Given the description of an element on the screen output the (x, y) to click on. 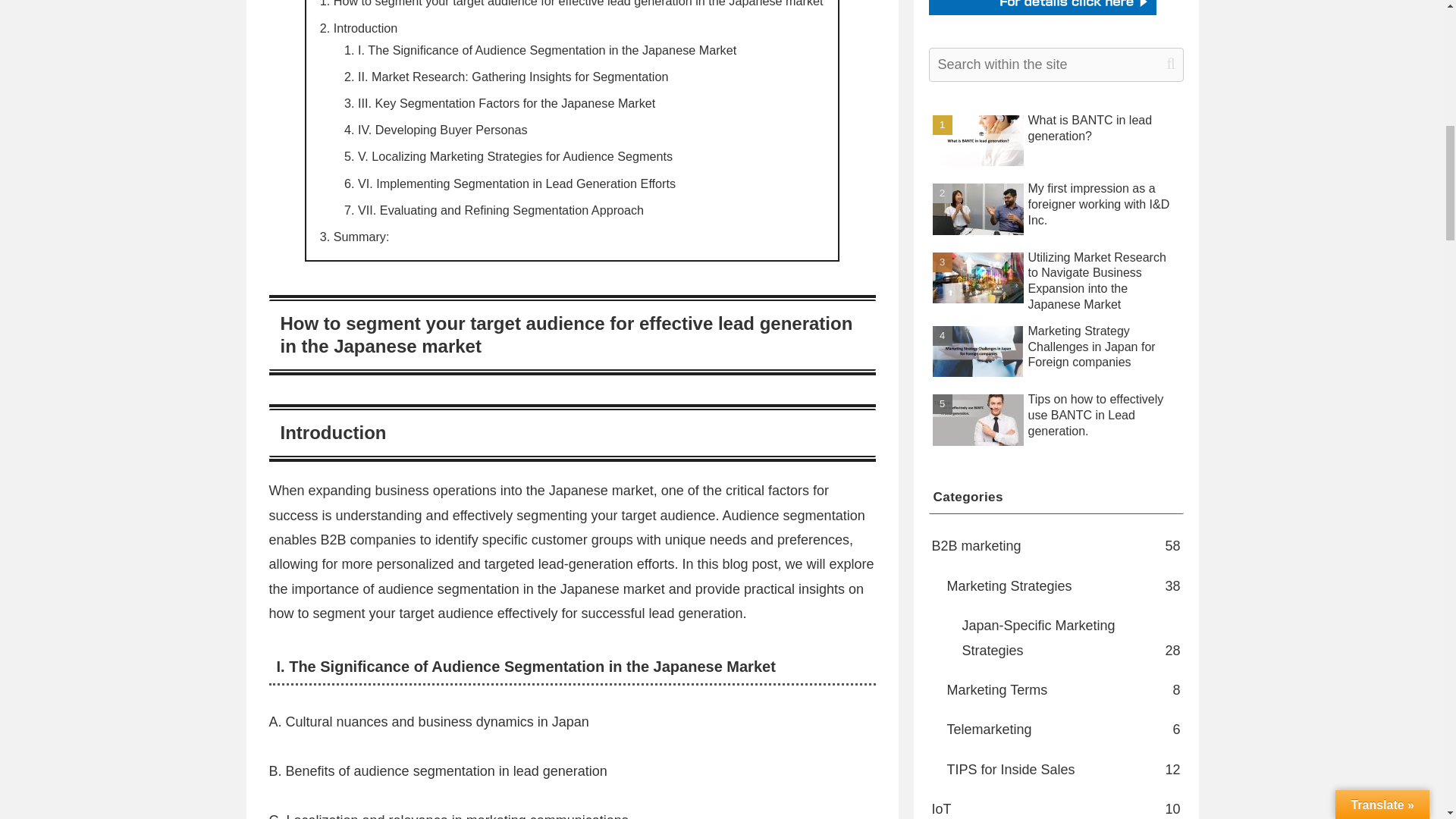
IV. Developing Buyer Personas  (444, 129)
VI. Implementing Segmentation in Lead Generation Efforts  (518, 182)
Summary: (361, 236)
VII. Evaluating and Refining Segmentation Approach  (502, 210)
II. Market Research: Gathering Insights for Segmentation  (514, 76)
Introduction (365, 28)
V. Localizing Marketing Strategies for Audience Segments  (517, 155)
III. Key Segmentation Factors for the Japanese Market  (508, 102)
